Given the description of an element on the screen output the (x, y) to click on. 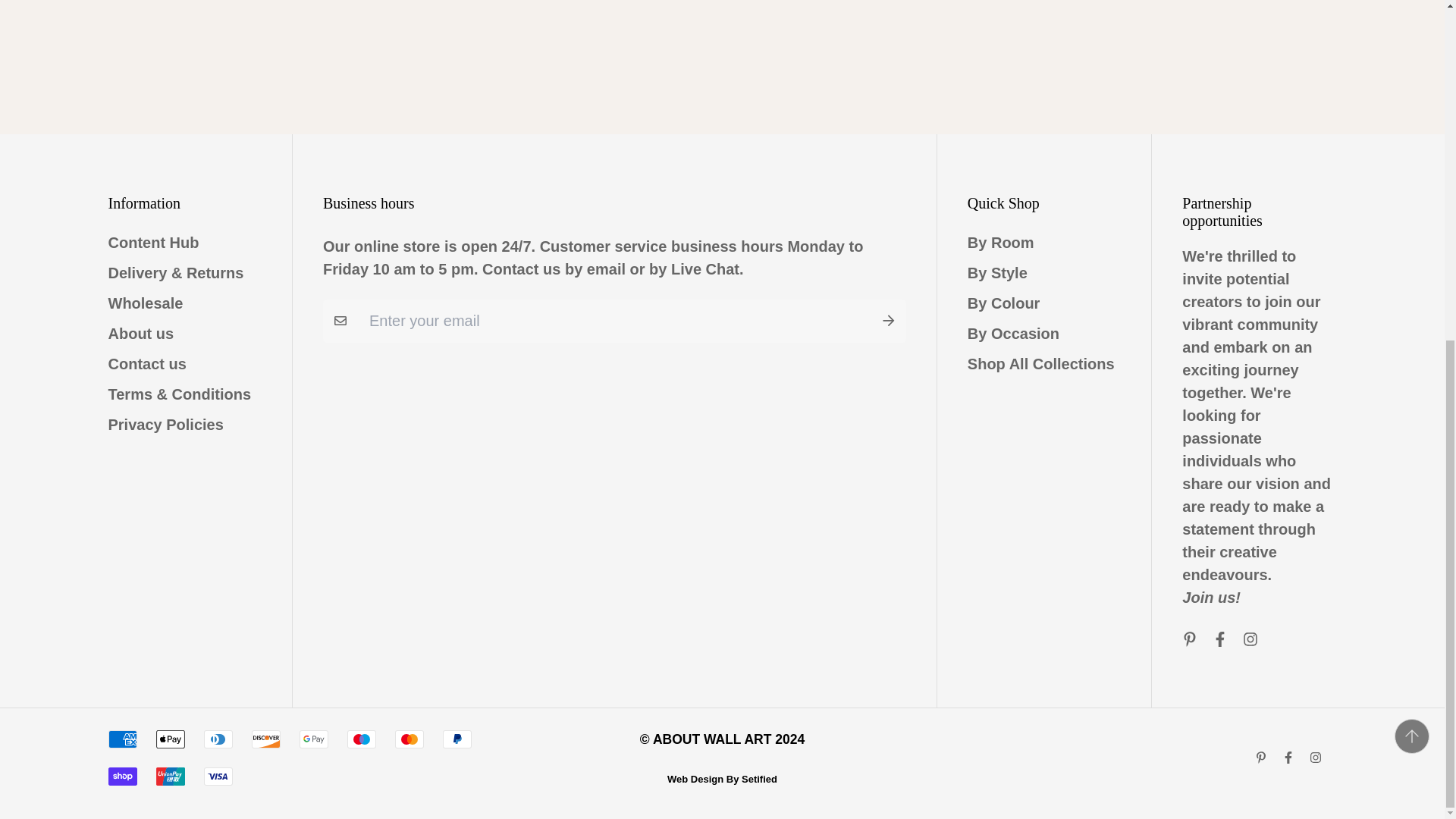
Collabs (1211, 597)
